Given the description of an element on the screen output the (x, y) to click on. 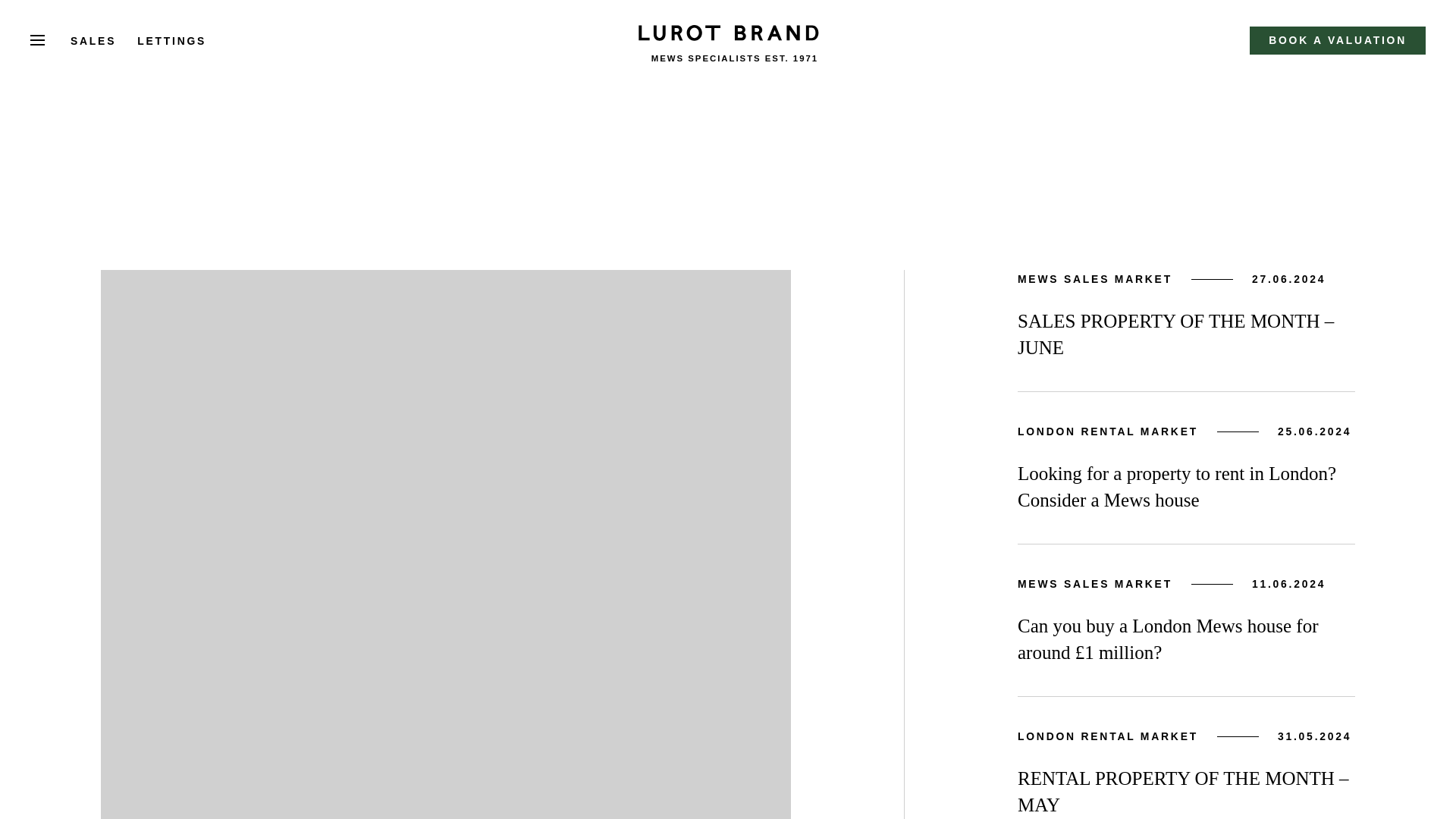
London Rental Market (1107, 736)
London Rental Market (1107, 431)
Mews Sales Market (1094, 279)
Mews Sales Market (1094, 583)
